Given the description of an element on the screen output the (x, y) to click on. 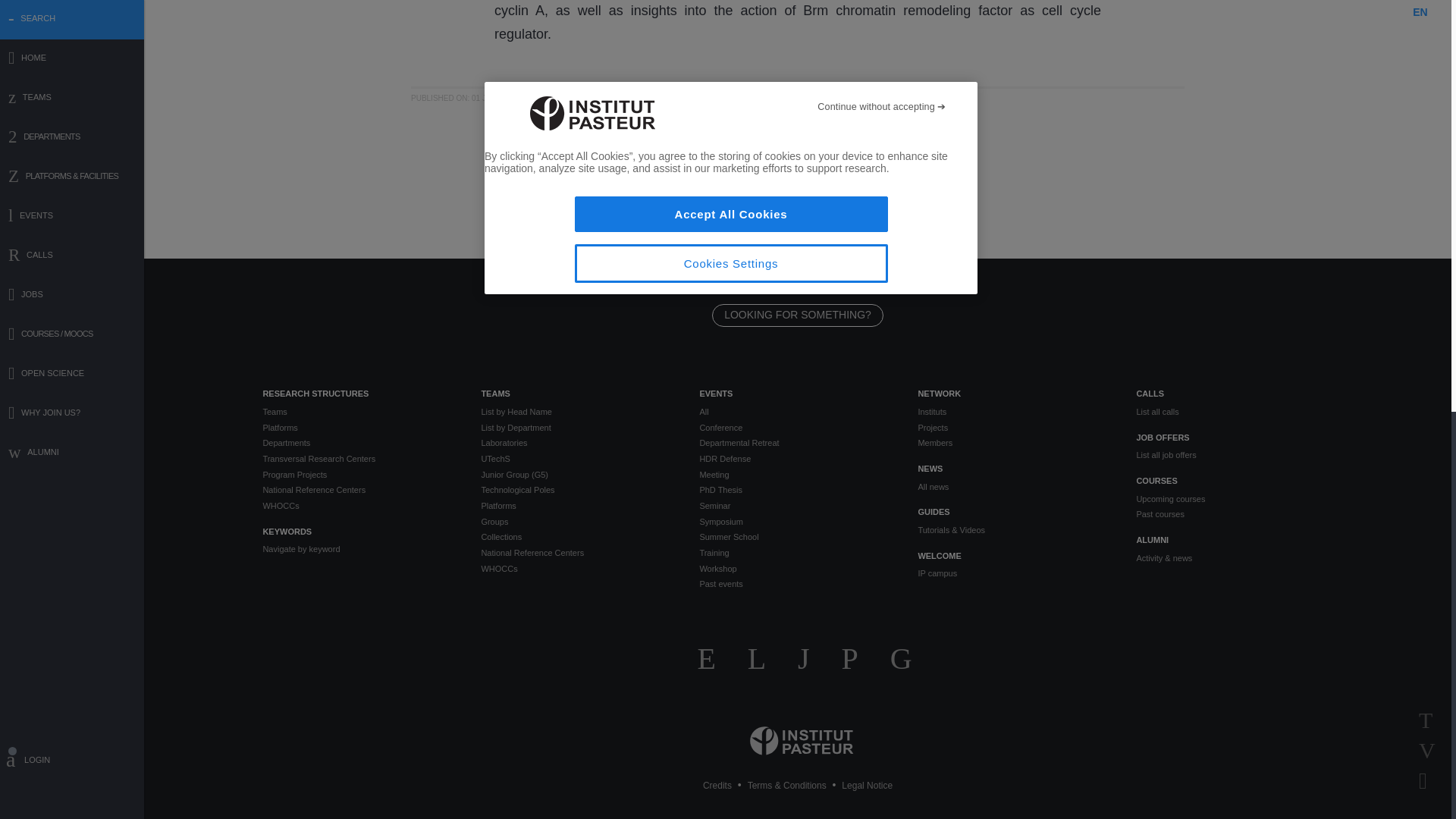
Transversal Research Centers (360, 459)
Platforms (360, 427)
Departments (360, 442)
Teams (360, 411)
Program Projects (360, 474)
